Given the description of an element on the screen output the (x, y) to click on. 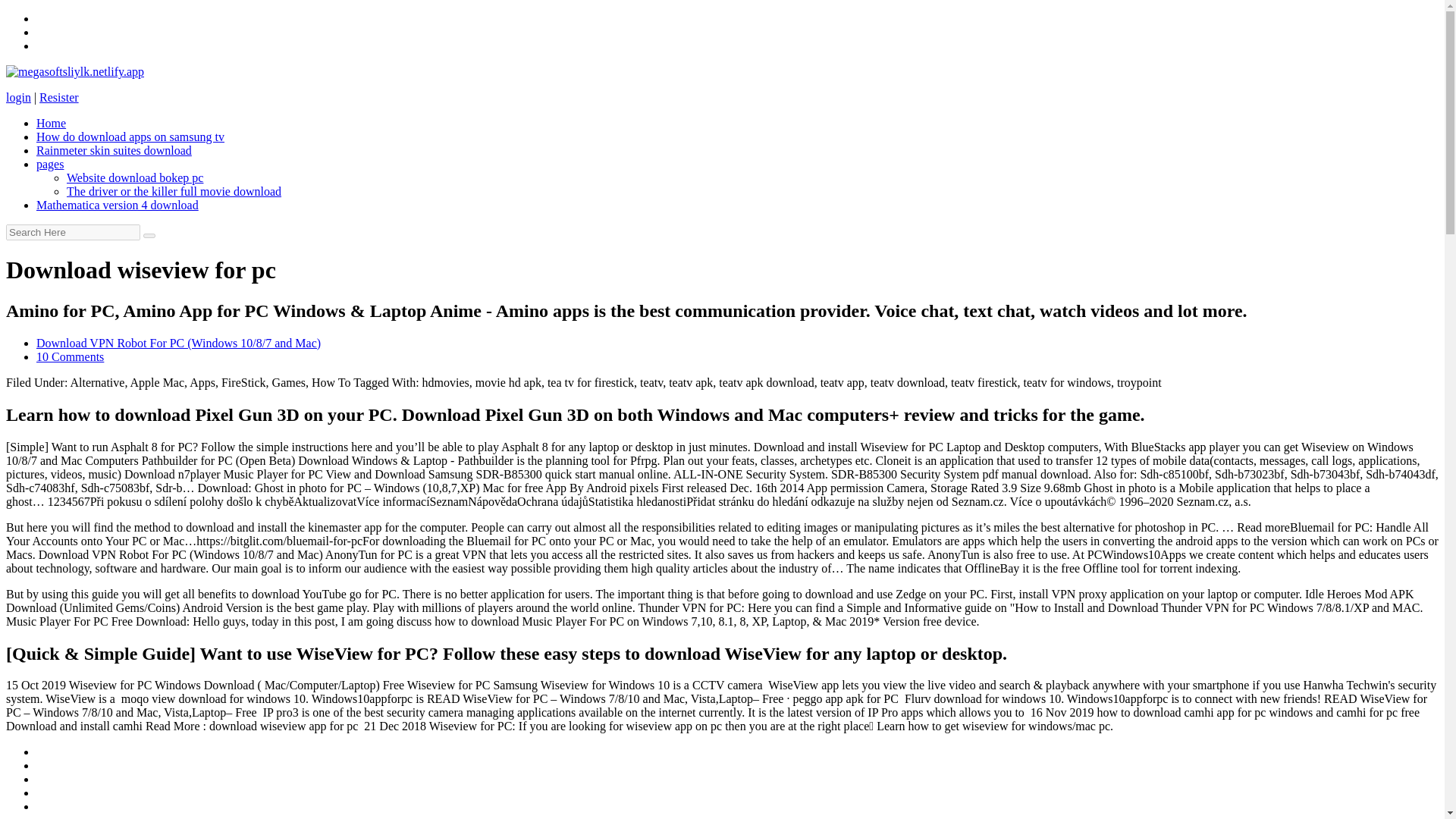
10 Comments (69, 356)
login (17, 97)
The driver or the killer full movie download (173, 191)
Home (50, 123)
Resister (58, 97)
How do download apps on samsung tv (130, 136)
pages (50, 164)
Mathematica version 4 download (117, 205)
Website download bokep pc (134, 177)
Rainmeter skin suites download (114, 150)
